Given the description of an element on the screen output the (x, y) to click on. 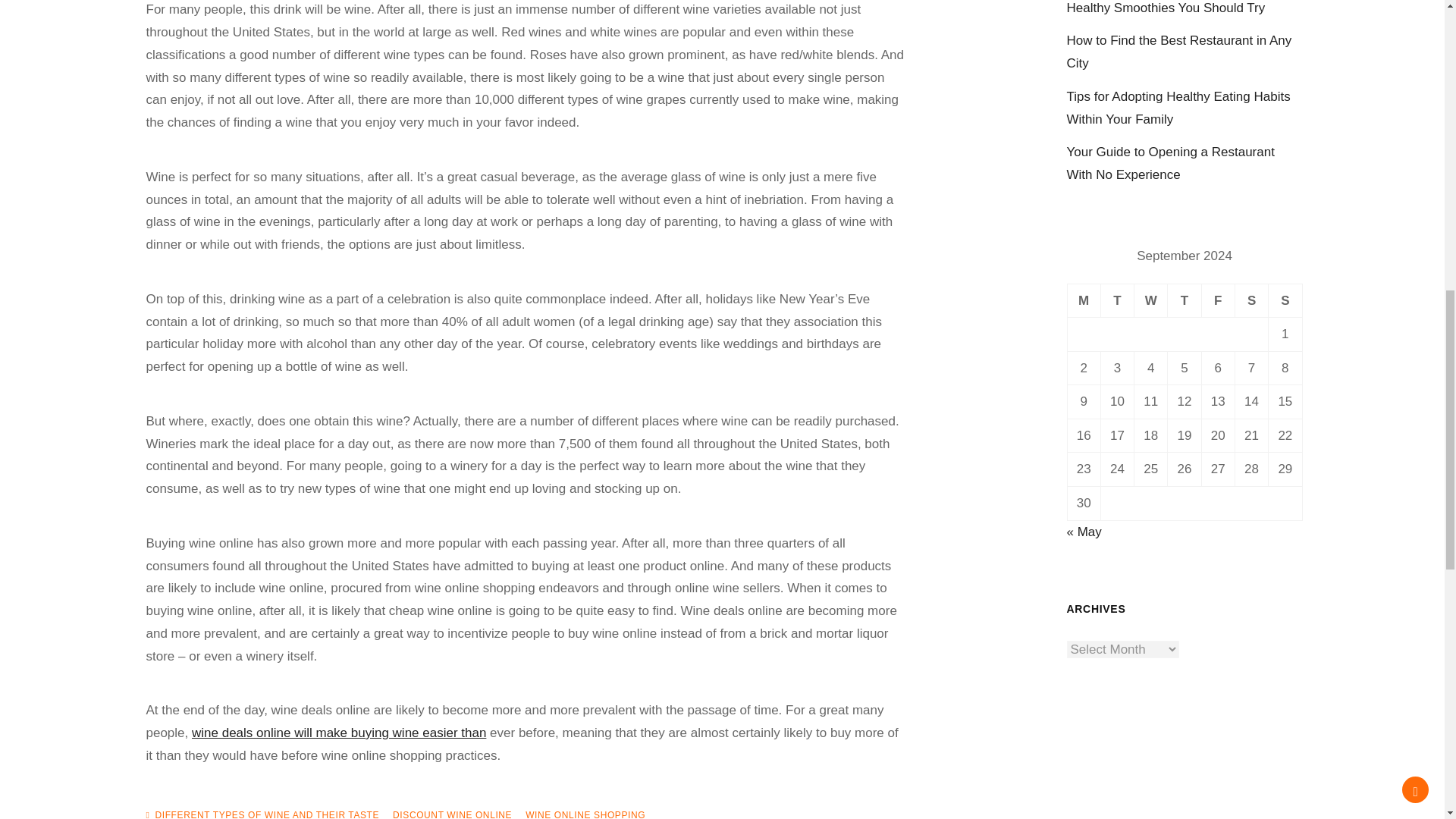
Sunday (1284, 300)
Healthy Smoothies You Should Try (1165, 7)
Discount wine online (339, 732)
Thursday (1184, 300)
DIFFERENT TYPES OF WINE AND THEIR TASTE (266, 814)
wine deals online will make buying wine easier than (339, 732)
Tuesday (1117, 300)
Saturday (1251, 300)
How to Find the Best Restaurant in Any City (1178, 51)
Your Guide to Opening a Restaurant With No Experience (1169, 162)
